Given the description of an element on the screen output the (x, y) to click on. 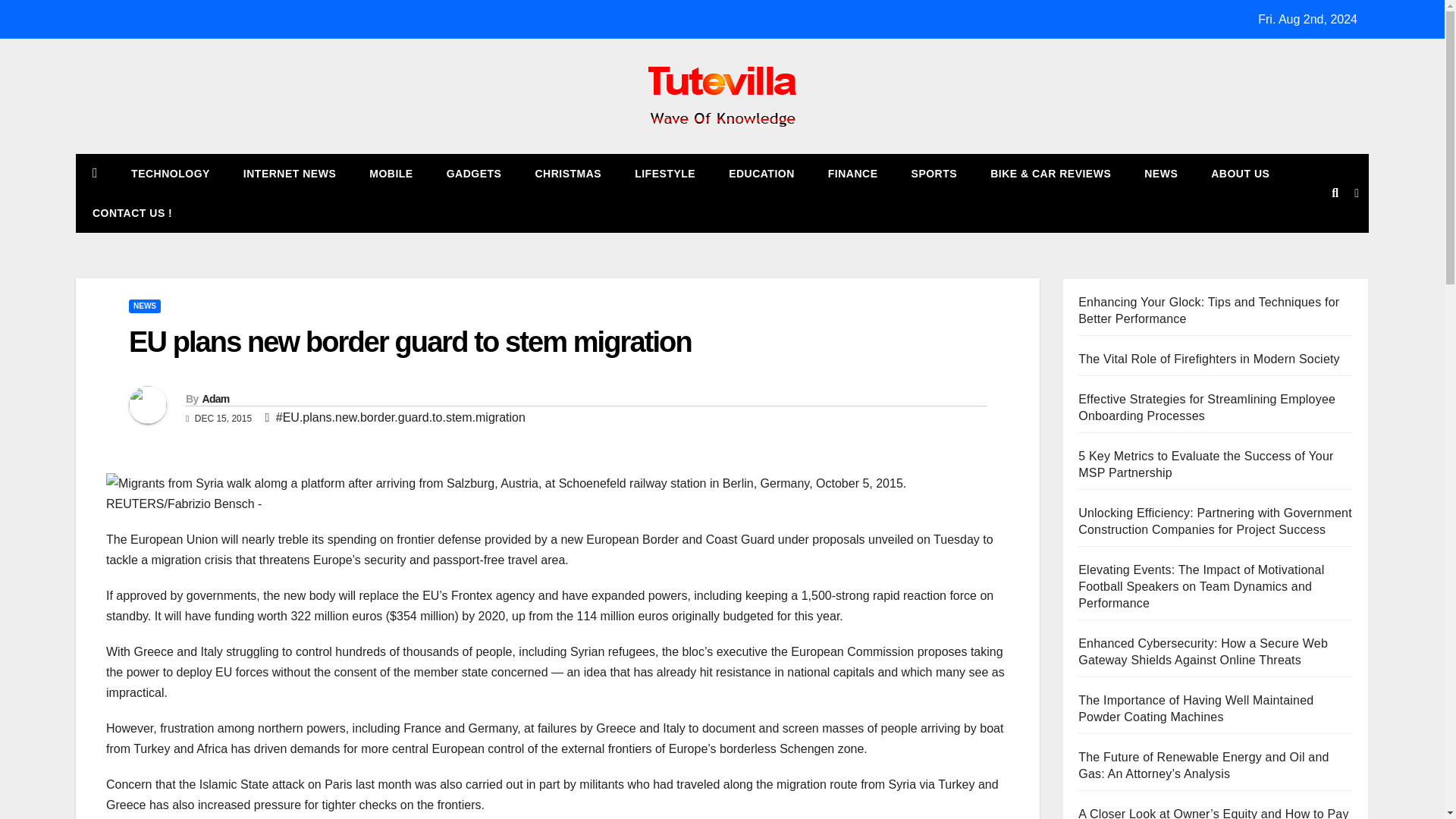
Sports (934, 173)
INTERNET NEWS (289, 173)
EDUCATION (760, 173)
EU plans new border guard to stem migration (410, 341)
Contact US ! (132, 212)
About Us (1239, 173)
Finance (852, 173)
Lifestyle (664, 173)
GADGETS (473, 173)
christmas (567, 173)
